Given the description of an element on the screen output the (x, y) to click on. 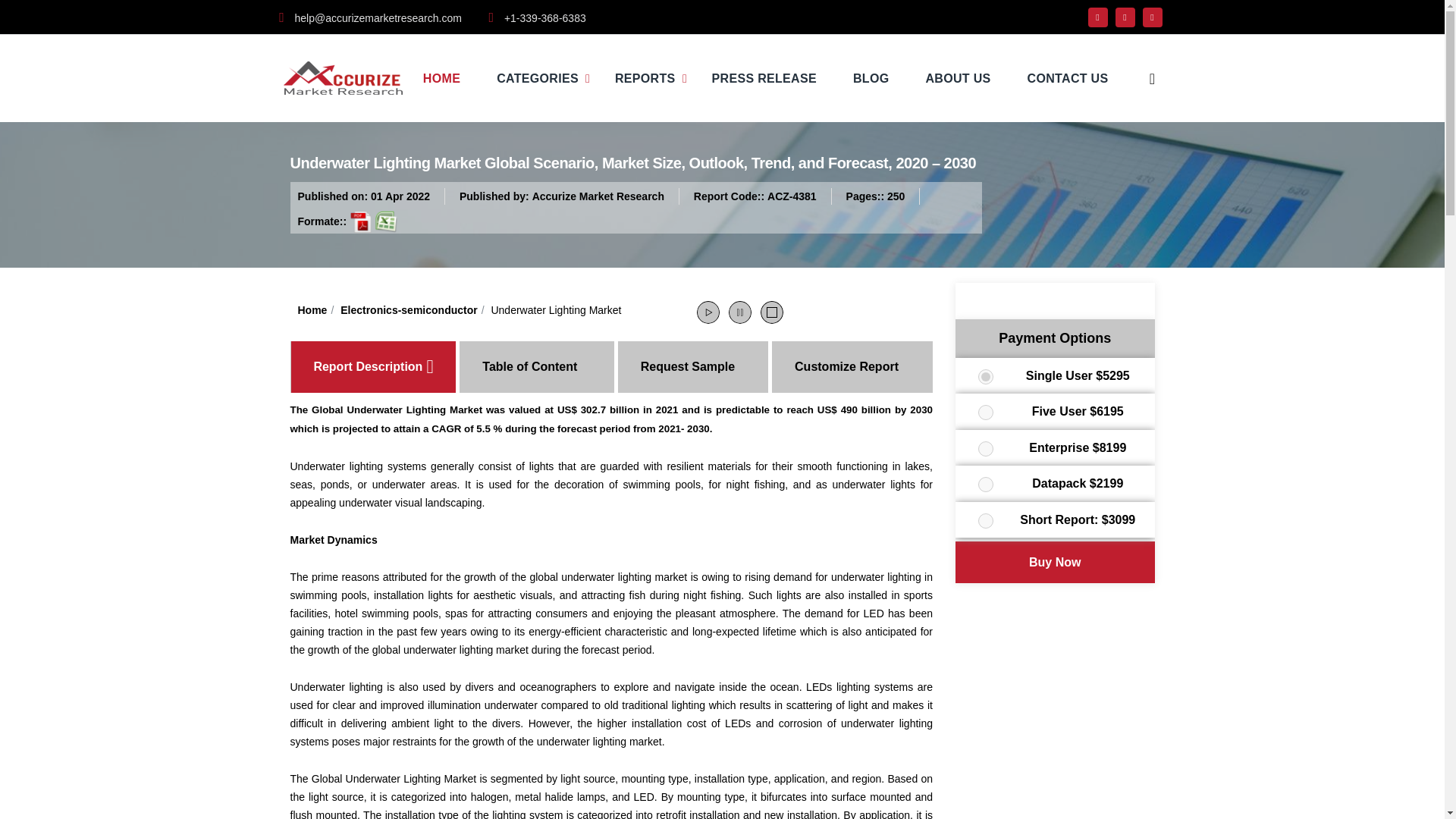
5 (985, 520)
3 (985, 448)
CONTACT US (1067, 78)
4 (985, 484)
1 (985, 376)
PRESS RELEASE (763, 78)
REPORTS (644, 78)
Report Description (374, 367)
CATEGORIES (537, 78)
2 (985, 412)
Table of Content (536, 367)
BLOG (871, 78)
HOME (441, 78)
Electronics-semiconductor (408, 309)
ABOUT US (957, 78)
